Given the description of an element on the screen output the (x, y) to click on. 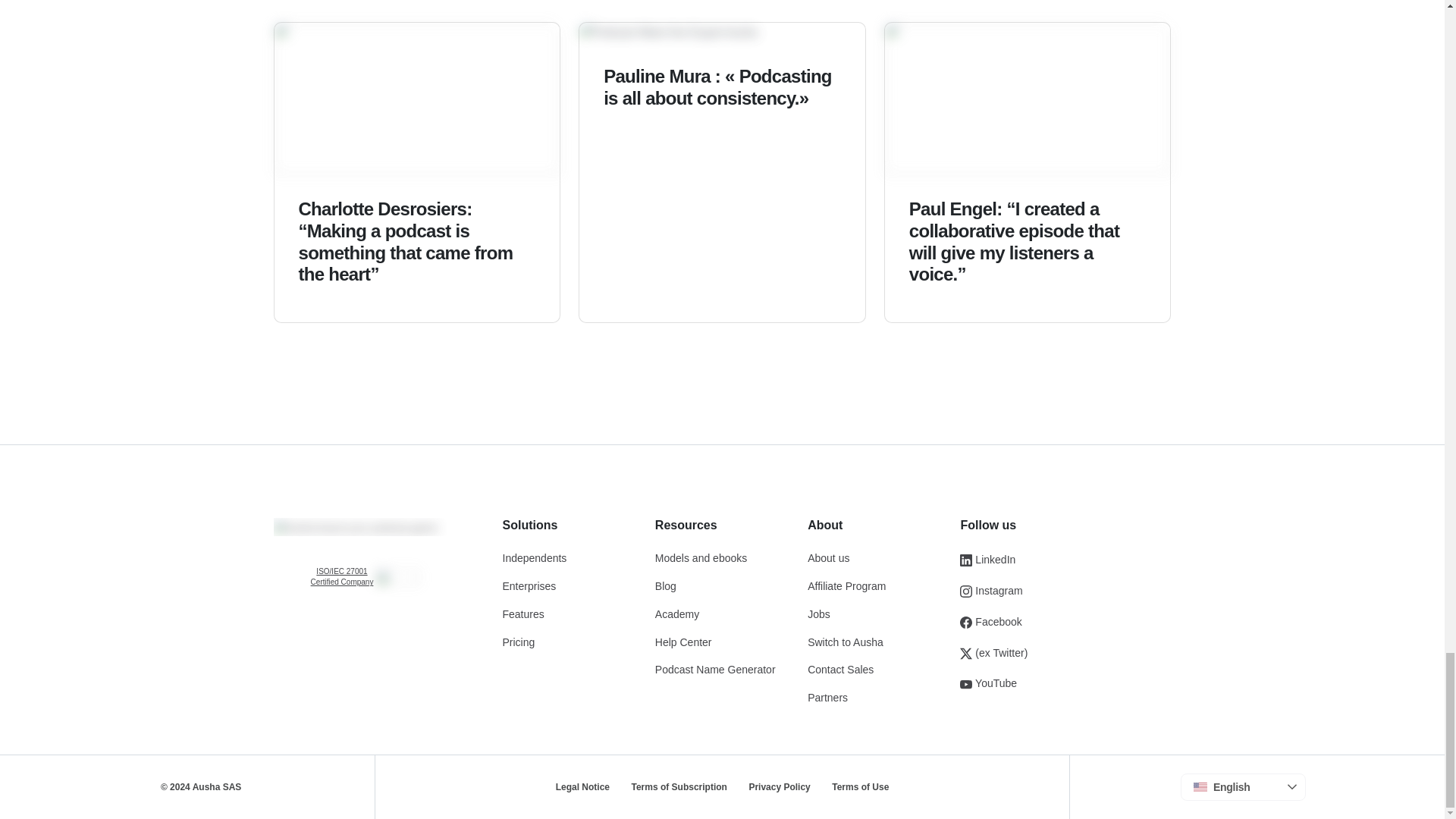
Download PDF Certificate (341, 577)
